Given the description of an element on the screen output the (x, y) to click on. 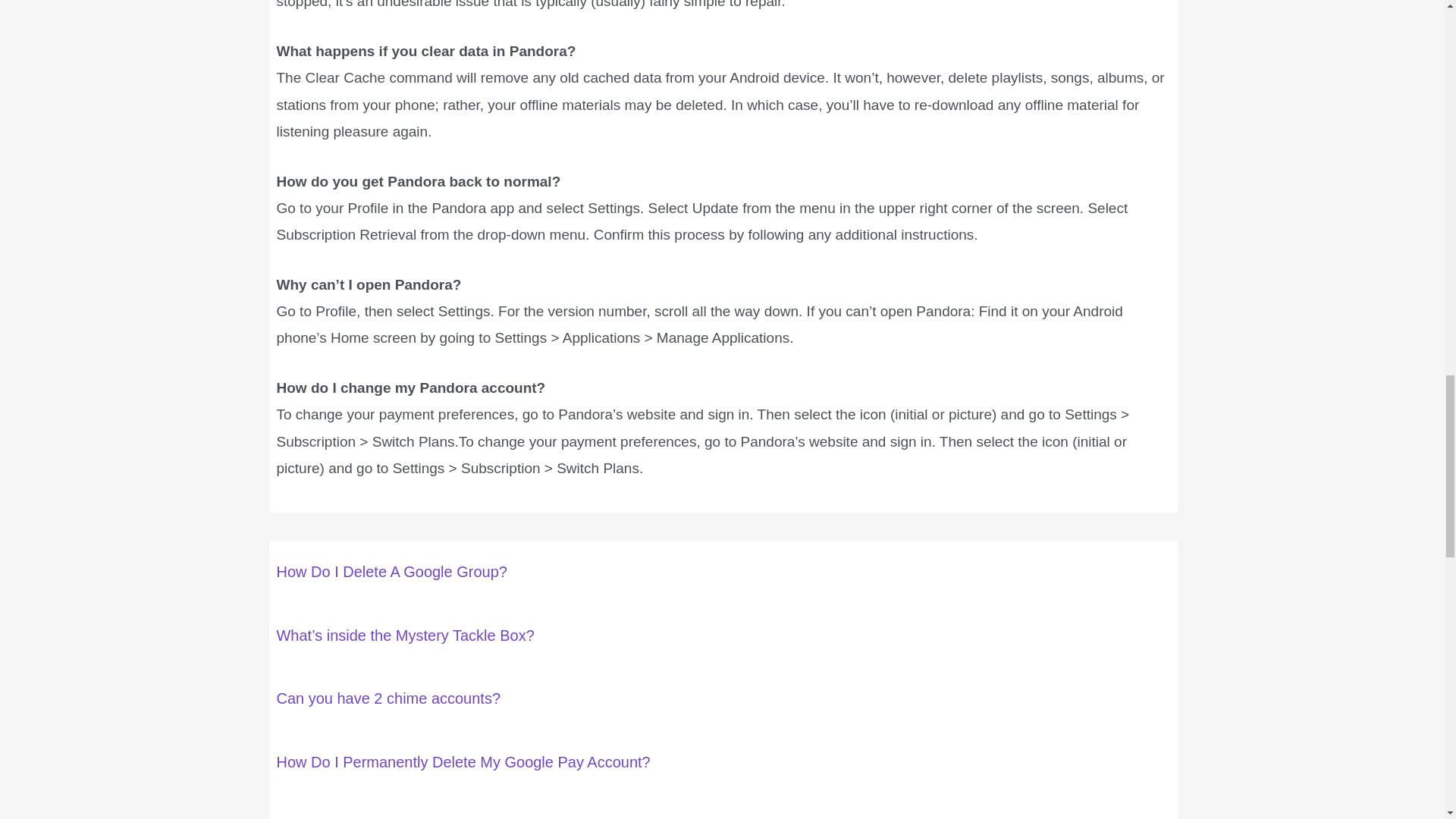
How Do I Permanently Delete My Google Pay Account? (462, 761)
How Do I Delete A Google Group? (391, 571)
Can you have 2 chime accounts? (388, 698)
